Given the description of an element on the screen output the (x, y) to click on. 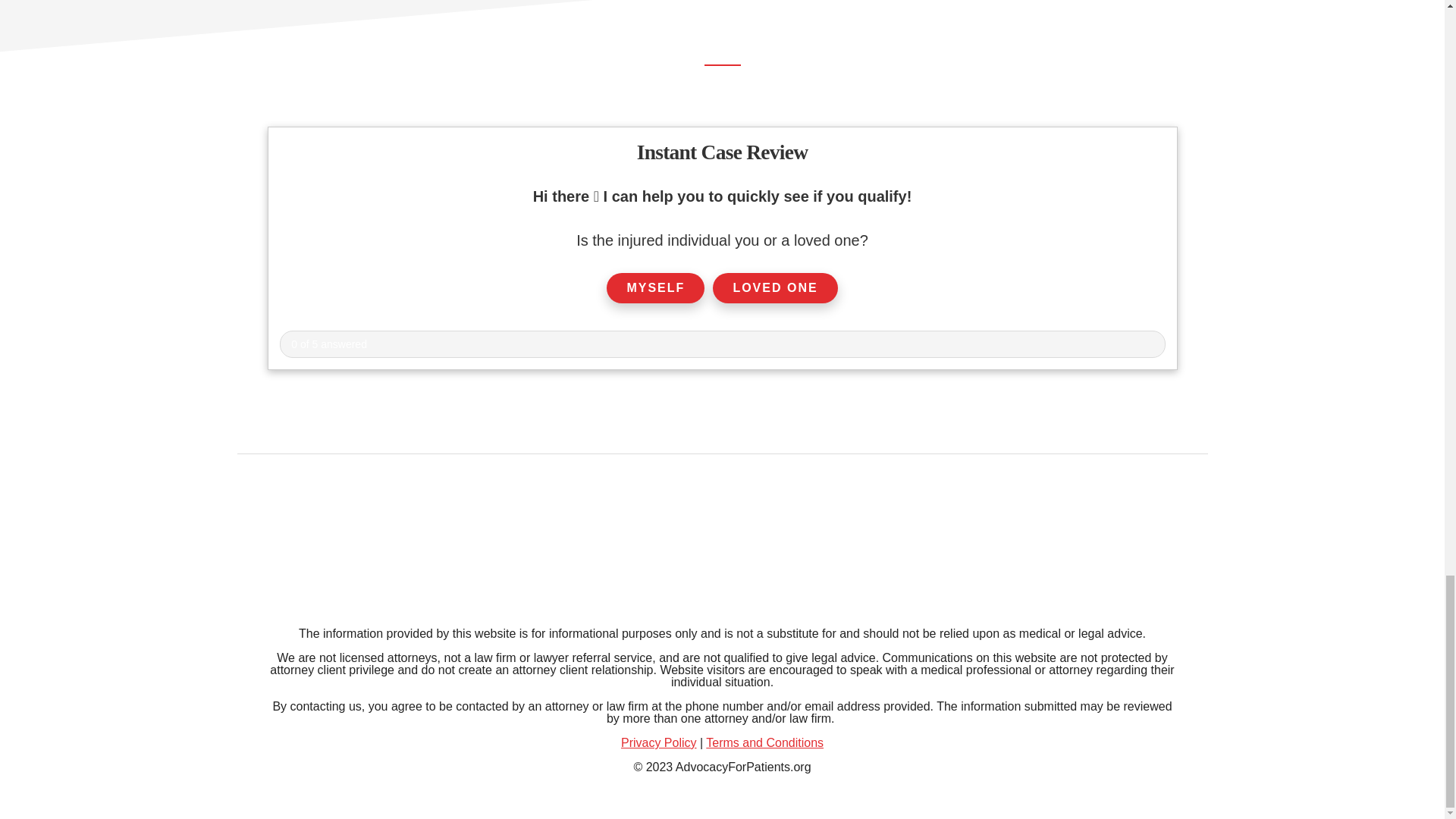
Terms and Conditions (765, 742)
LOVED ONE (775, 287)
Privacy Policy (659, 742)
MYSELF (655, 287)
